Given the description of an element on the screen output the (x, y) to click on. 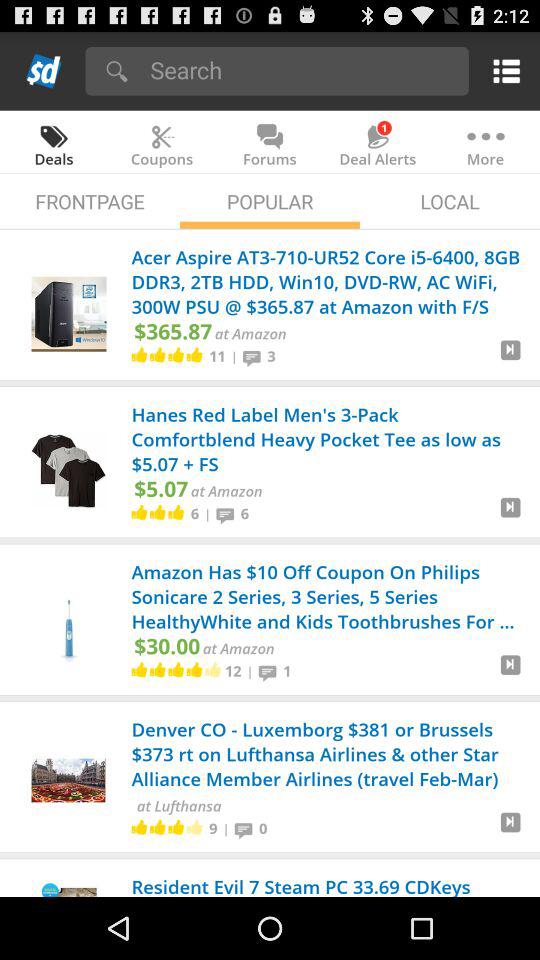
next option (510, 830)
